Given the description of an element on the screen output the (x, y) to click on. 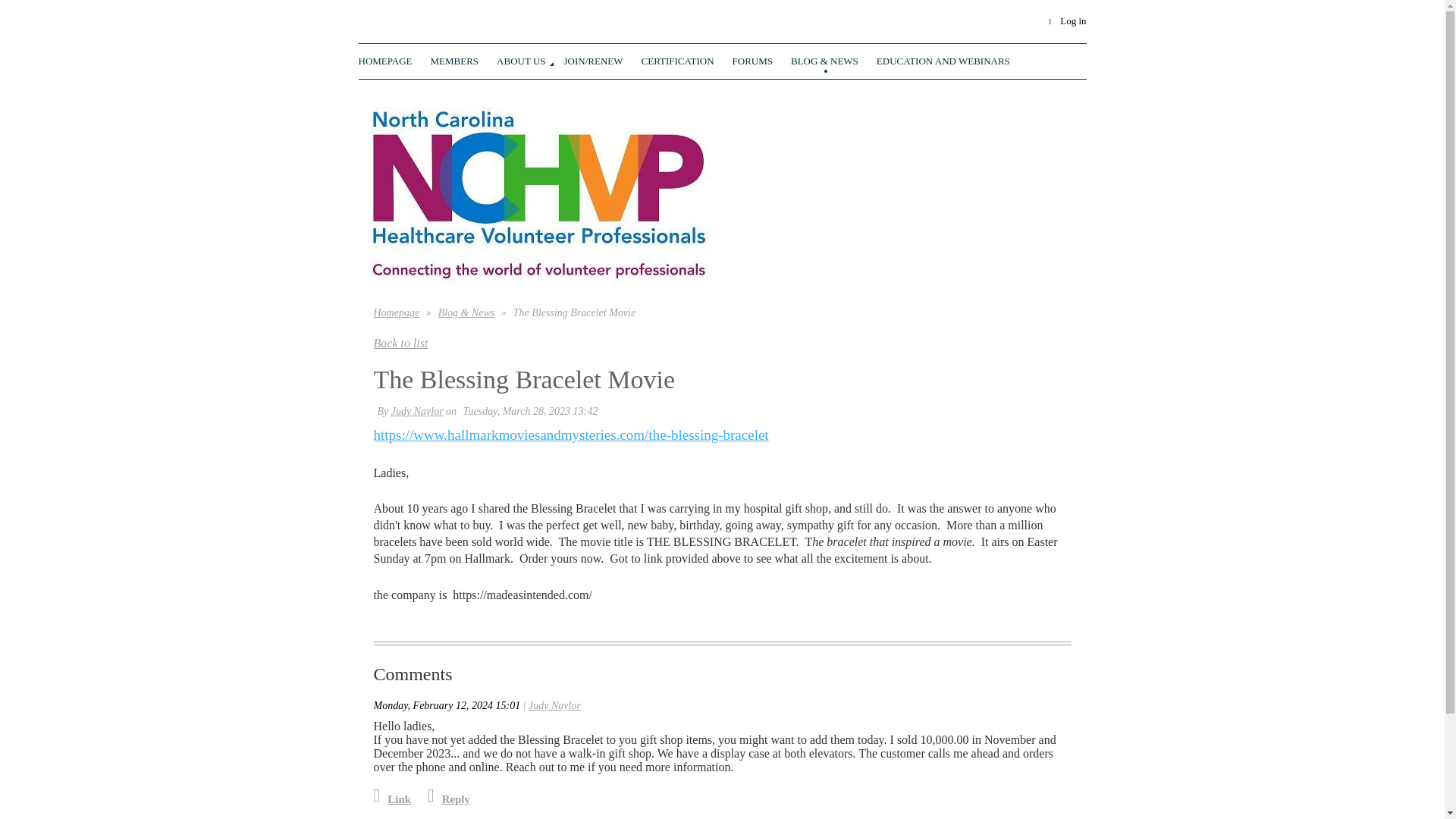
MEMBERS (463, 59)
Forums (761, 59)
Certification (687, 59)
Judy Naylor (417, 410)
FORUMS (761, 59)
CERTIFICATION (687, 59)
Link (391, 799)
Homepage (393, 59)
HOMEPAGE (393, 59)
Members (463, 59)
Homepage (395, 312)
EDUCATION AND WEBINARS (943, 59)
Back to list (400, 342)
Judy Naylor (554, 705)
Reply (449, 799)
